Given the description of an element on the screen output the (x, y) to click on. 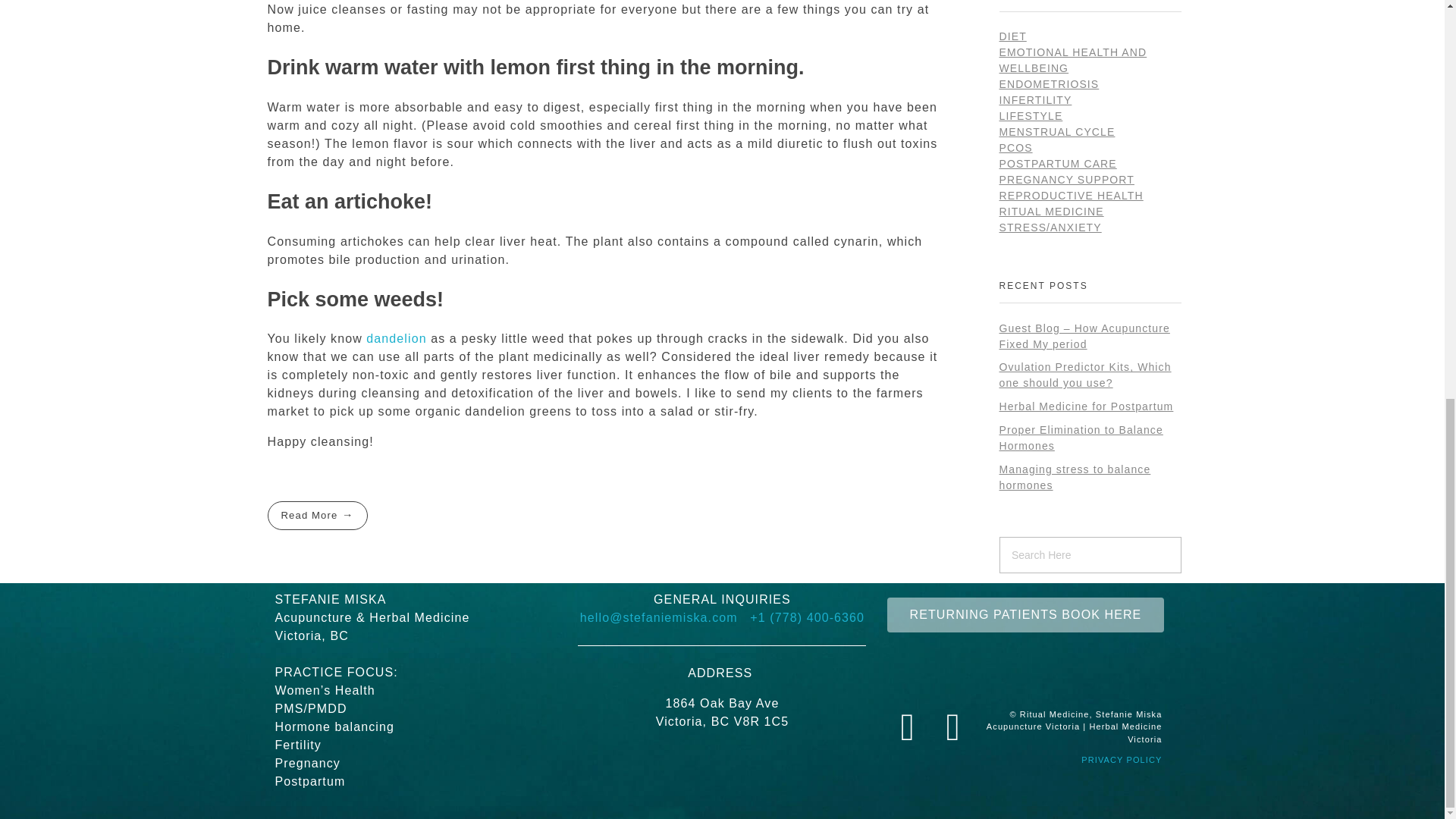
ENDOMETRIOSIS (1048, 83)
Managing stress to balance hormones (1074, 477)
RETURNING PATIENTS BOOK HERE (1025, 614)
EMOTIONAL HEALTH AND WELLBEING (1072, 59)
RITUAL MEDICINE (1050, 211)
PREGNANCY SUPPORT (1066, 179)
REPRODUCTIVE HEALTH (1070, 195)
MENSTRUAL CYCLE (1056, 132)
LIFESTYLE (1030, 115)
PCOS (1015, 147)
POSTPARTUM CARE (1057, 163)
dandelion (396, 338)
Proper Elimination to Balance Hormones (1080, 438)
INFERTILITY (1034, 100)
Ovulation Predictor Kits, Which one should you use? (1085, 375)
